Given the description of an element on the screen output the (x, y) to click on. 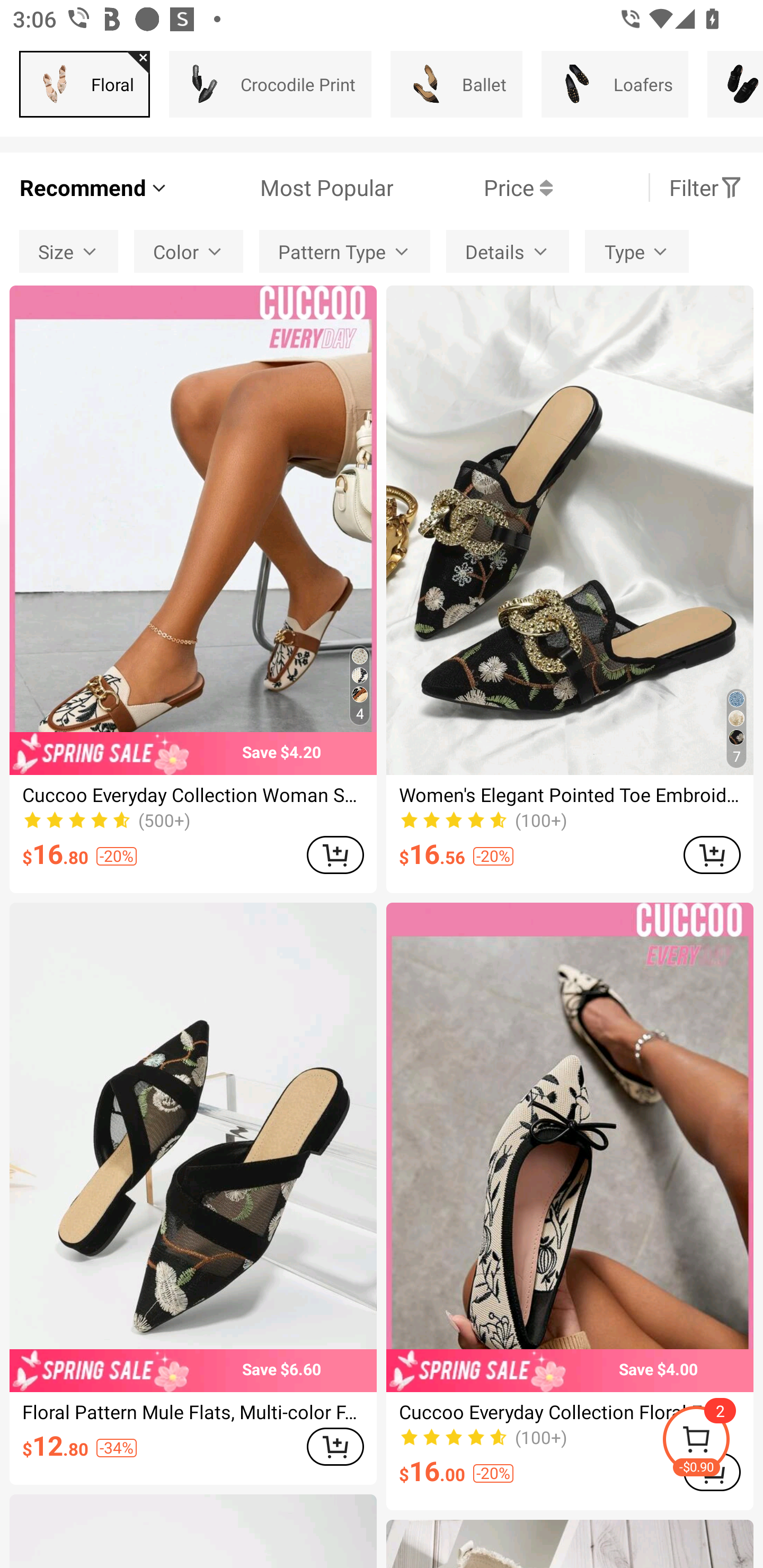
Floral (84, 83)
Crocodile Print (270, 83)
Ballet (456, 83)
Loafers (614, 83)
Recommend (94, 187)
Most Popular (280, 187)
Price (472, 187)
Filter (705, 187)
Size (68, 251)
Color (188, 251)
Pattern Type (344, 251)
Details (507, 251)
Type (636, 251)
ADD TO CART (334, 854)
ADD TO CART (711, 854)
-$0.90 (712, 1441)
ADD TO CART (334, 1446)
